Given the description of an element on the screen output the (x, y) to click on. 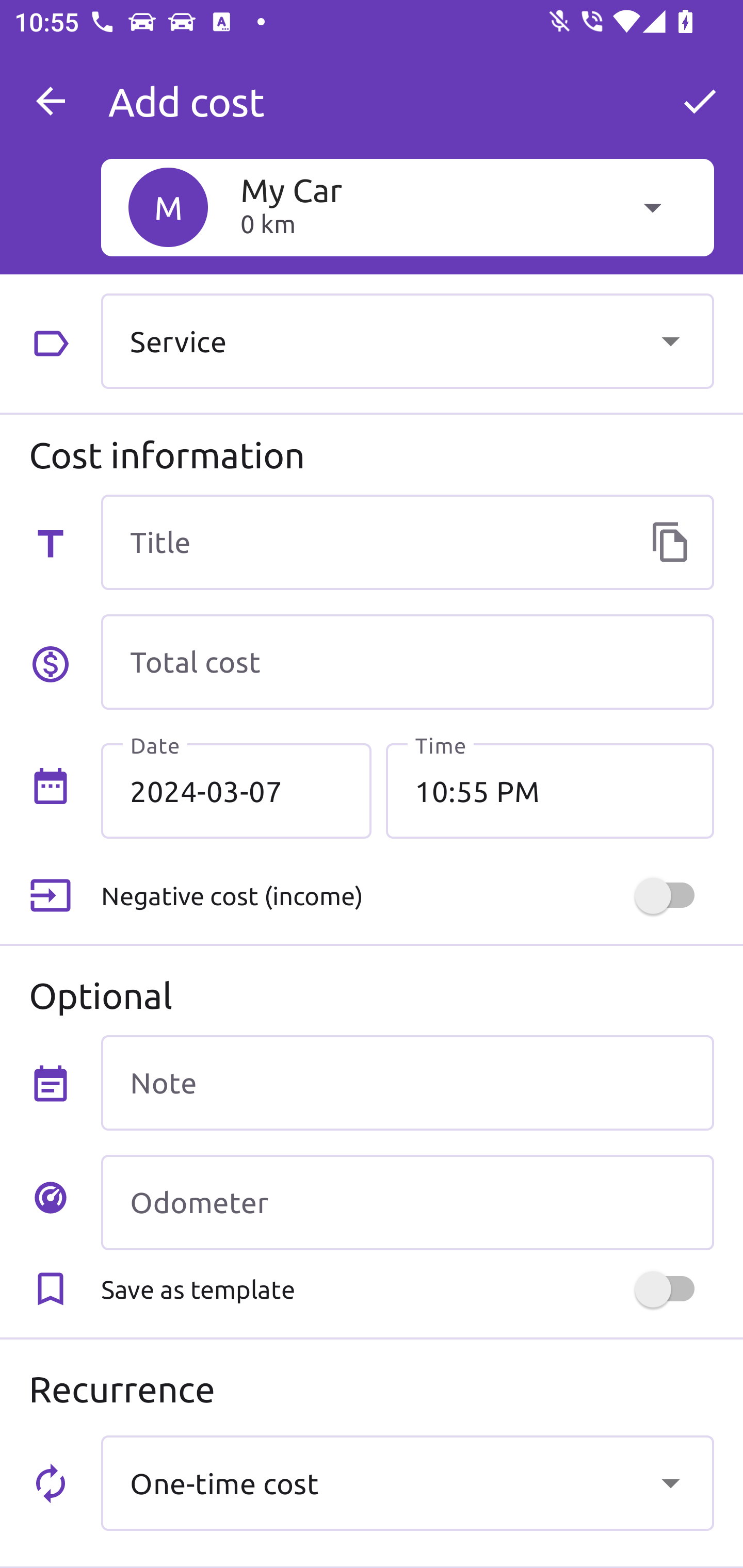
Navigate up (50, 101)
OK (699, 101)
M My Car 0 km (407, 206)
Service (407, 340)
Show dropdown menu (670, 340)
Title (407, 541)
Templates (670, 541)
Total cost  (407, 662)
2024-03-07 (236, 790)
10:55 PM (549, 790)
Negative cost (income) (407, 895)
Note (407, 1082)
Odometer (407, 1202)
Save as template (407, 1289)
One-time cost (407, 1482)
Show dropdown menu (670, 1482)
